Given the description of an element on the screen output the (x, y) to click on. 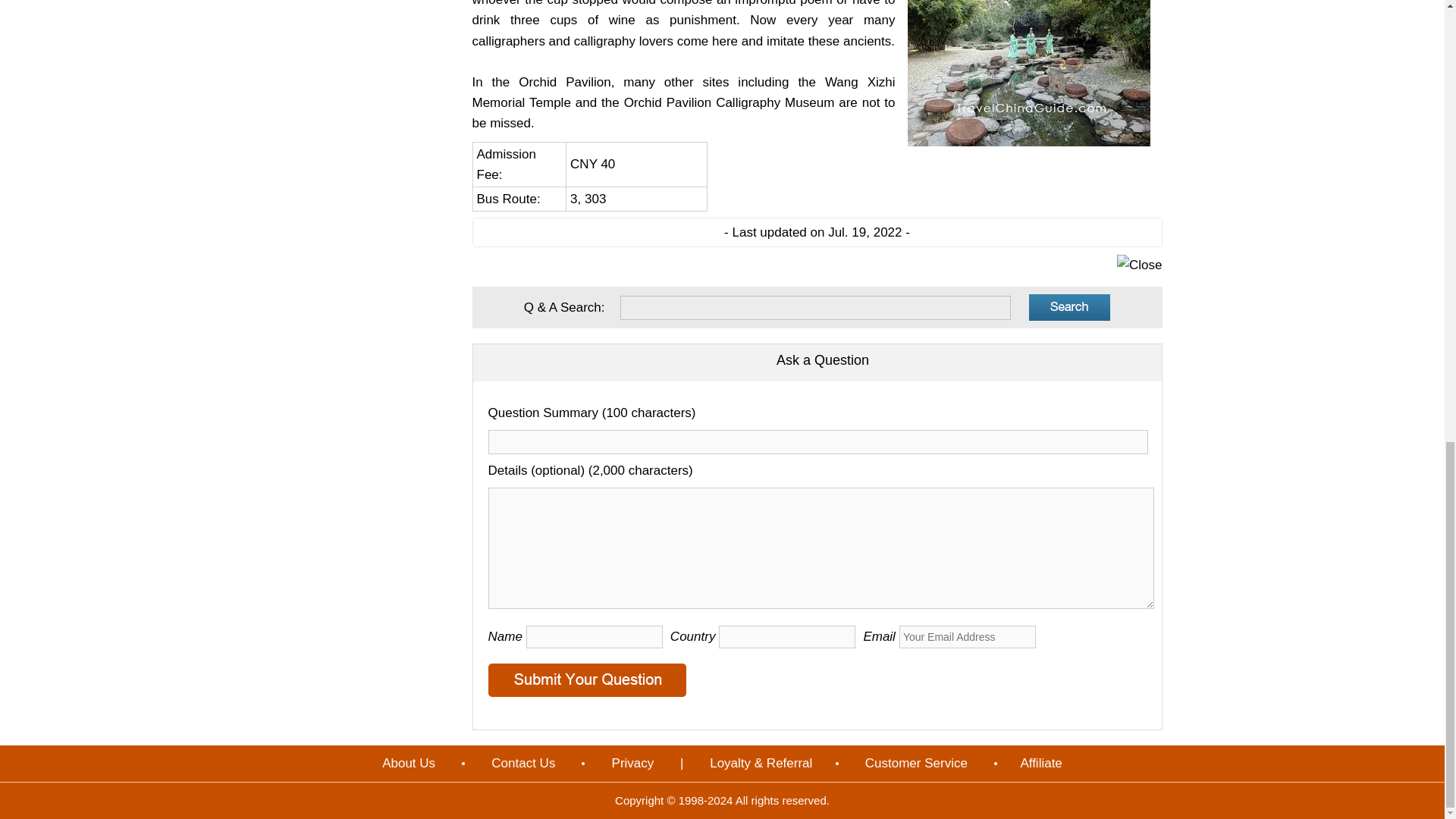
Privacy (633, 762)
Customer Service (916, 762)
Contact Us (523, 762)
Affiliate (1040, 762)
Close (1138, 264)
About Us (408, 762)
